Given the description of an element on the screen output the (x, y) to click on. 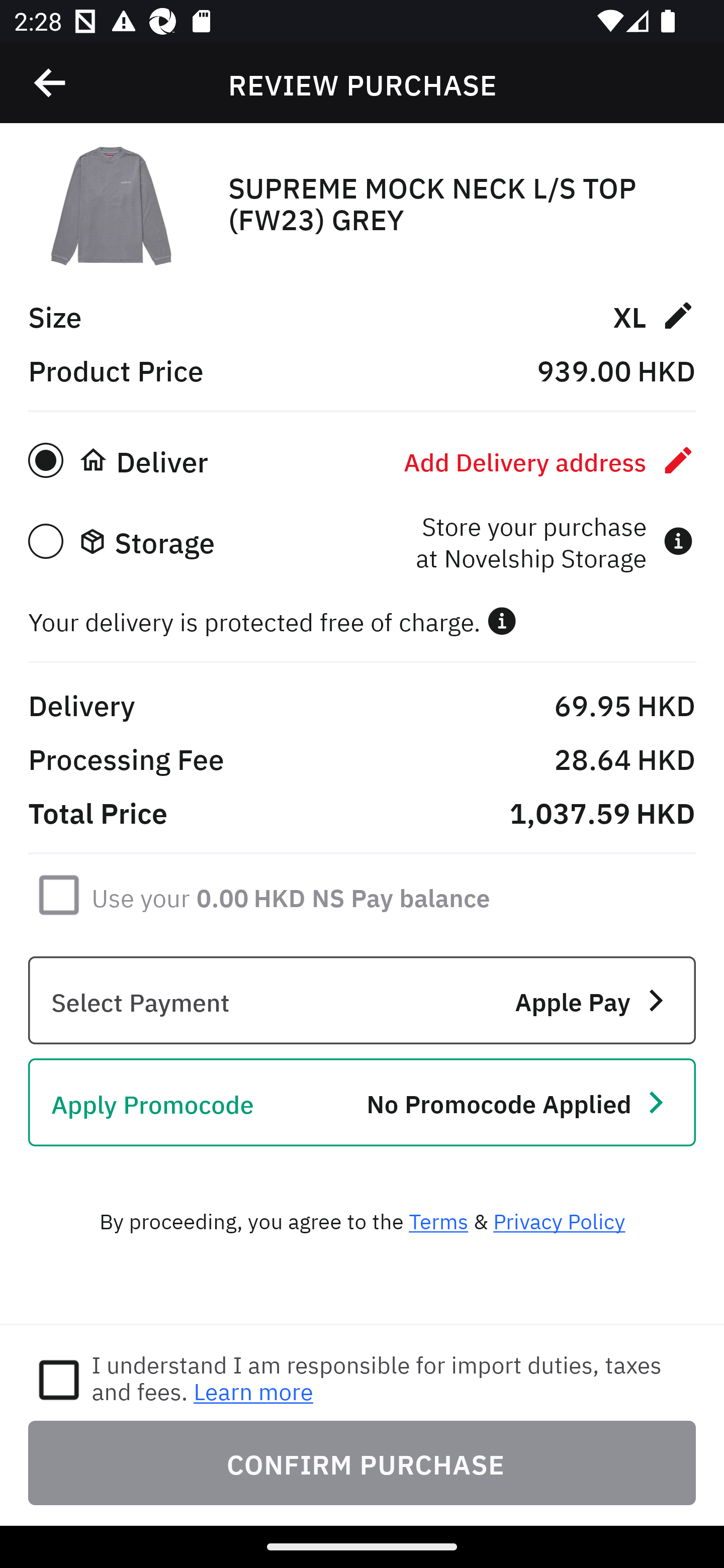
 (50, 83)
XL 󰏫 (654, 314)
󰚡 Deliver Add Delivery address 󰏫 (361, 459)
Add Delivery address 󰏫 (549, 460)
Store your purchase
at Novelship Storage  (554, 540)
 (501, 620)
Use your 0.00 HKD NS Pay balance (290, 894)
Select Payment Apple Pay  (361, 1000)
Apply Promocode No Promocode Applied  (361, 1102)
 CONFIRM PURCHASE (361, 1462)
